Given the description of an element on the screen output the (x, y) to click on. 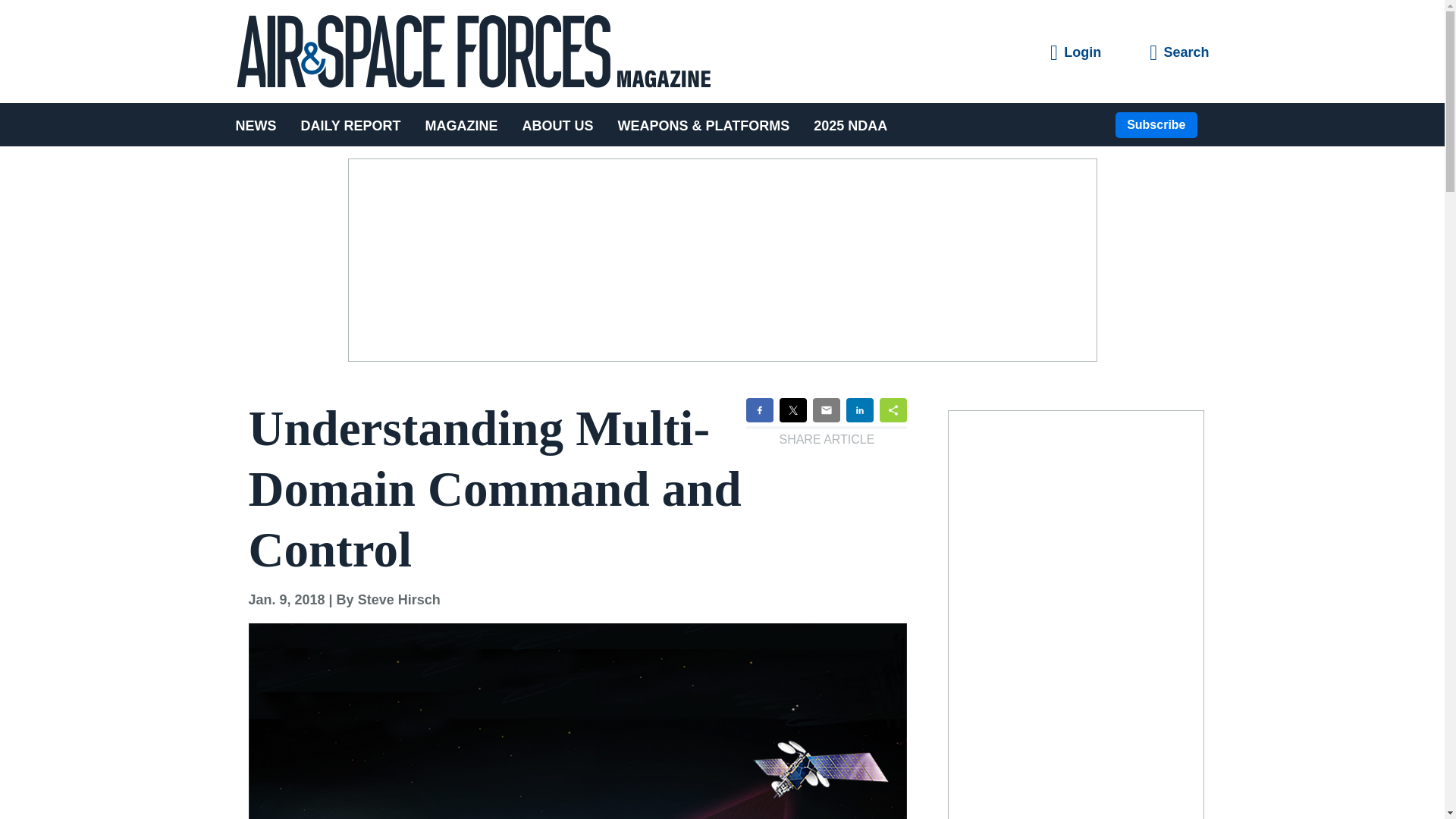
Search (1179, 52)
MAGAZINE (462, 124)
ABOUT US (558, 124)
NEWS (261, 124)
DAILY REPORT (350, 124)
Login (1074, 52)
